Given the description of an element on the screen output the (x, y) to click on. 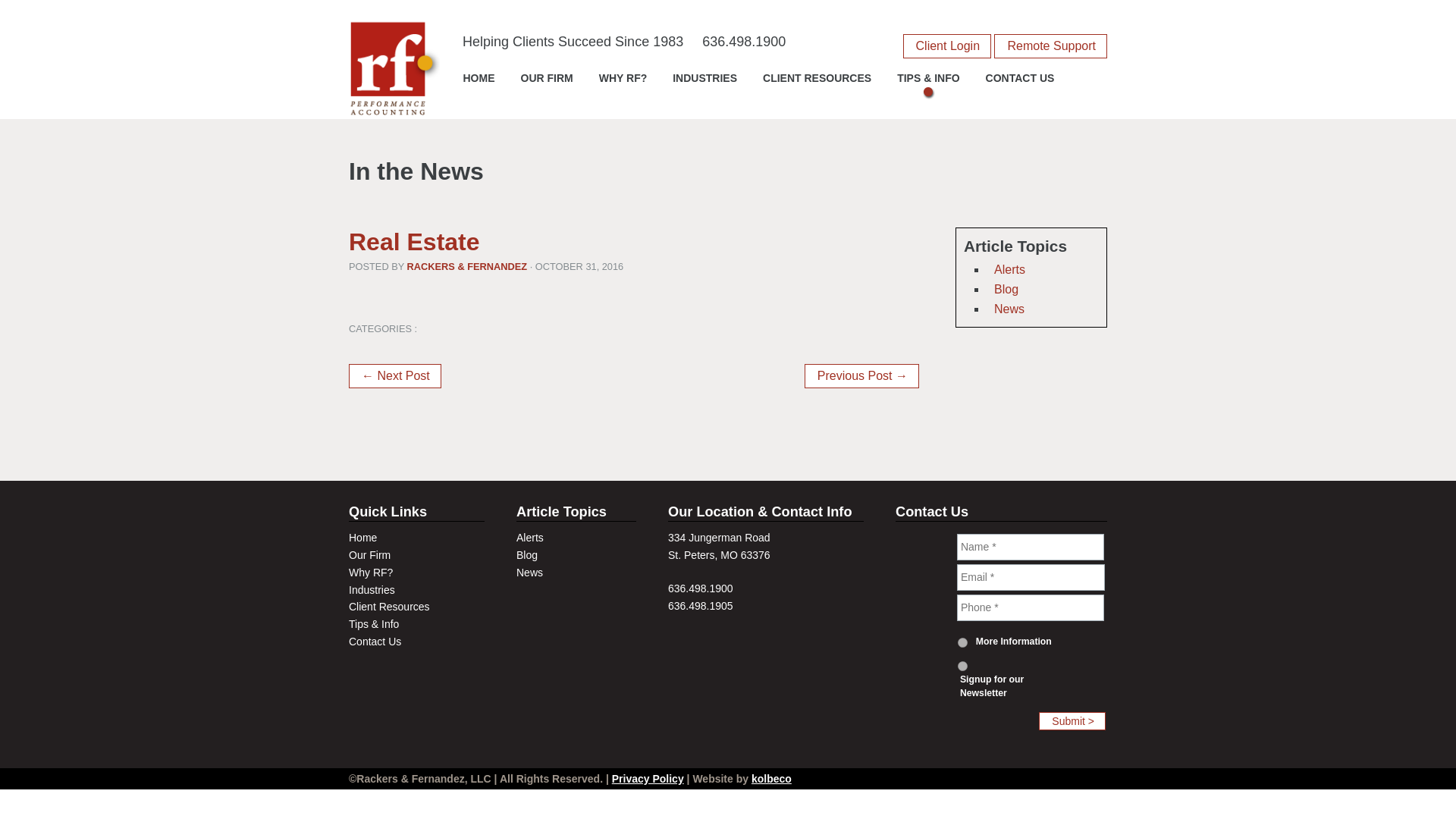
News (1009, 308)
WHY RF? (623, 83)
More Information (963, 642)
Alerts (529, 537)
Industries (371, 589)
Why RF? (371, 572)
kolbeco (771, 778)
Alerts (1009, 269)
HOME (479, 83)
Privacy Policy (647, 778)
Client Login (946, 46)
Contact Us (375, 641)
Client Resources (389, 606)
Signup for our Newsletter (963, 665)
INDUSTRIES (704, 83)
